Given the description of an element on the screen output the (x, y) to click on. 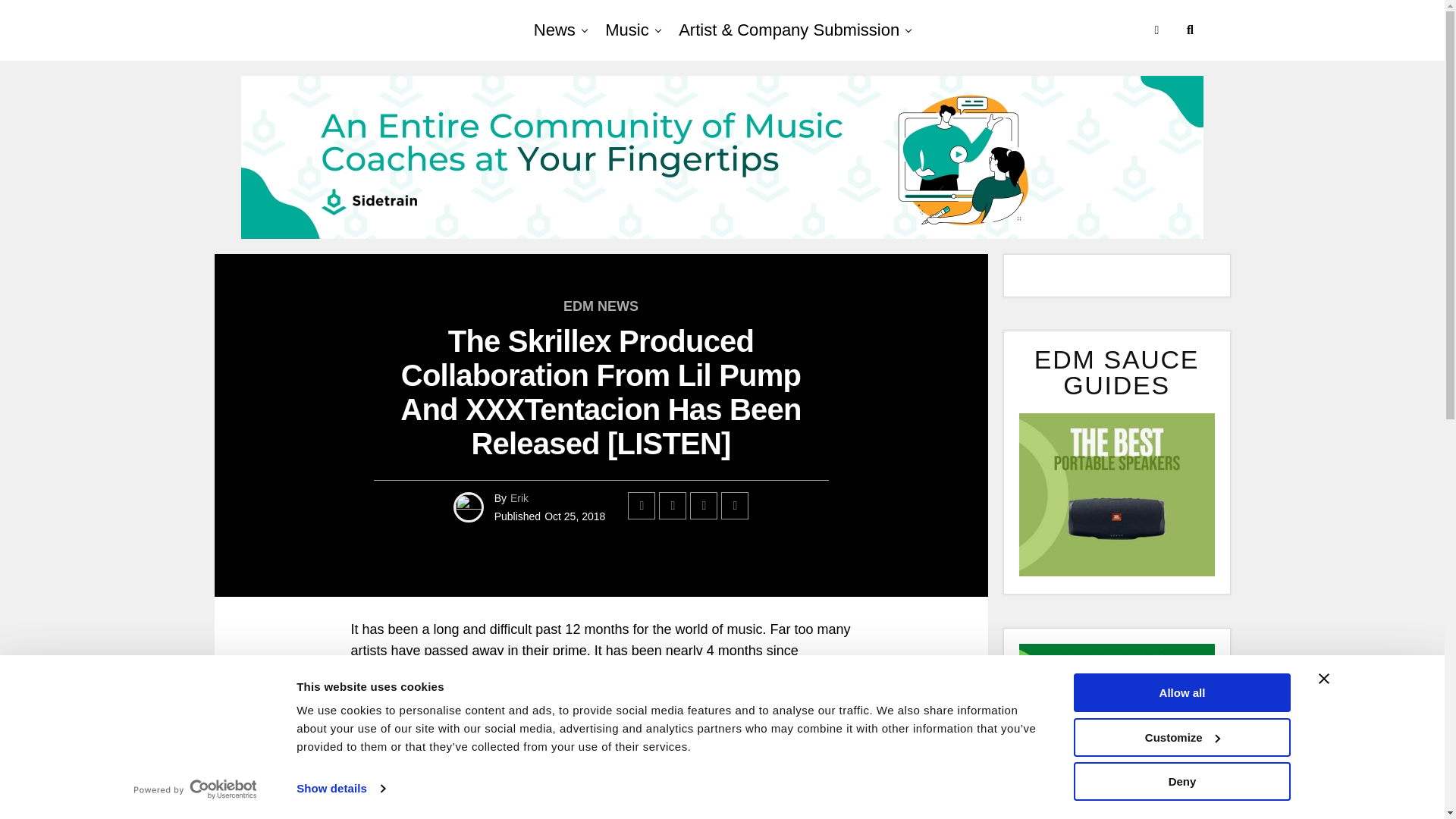
Show details (340, 788)
